Given the description of an element on the screen output the (x, y) to click on. 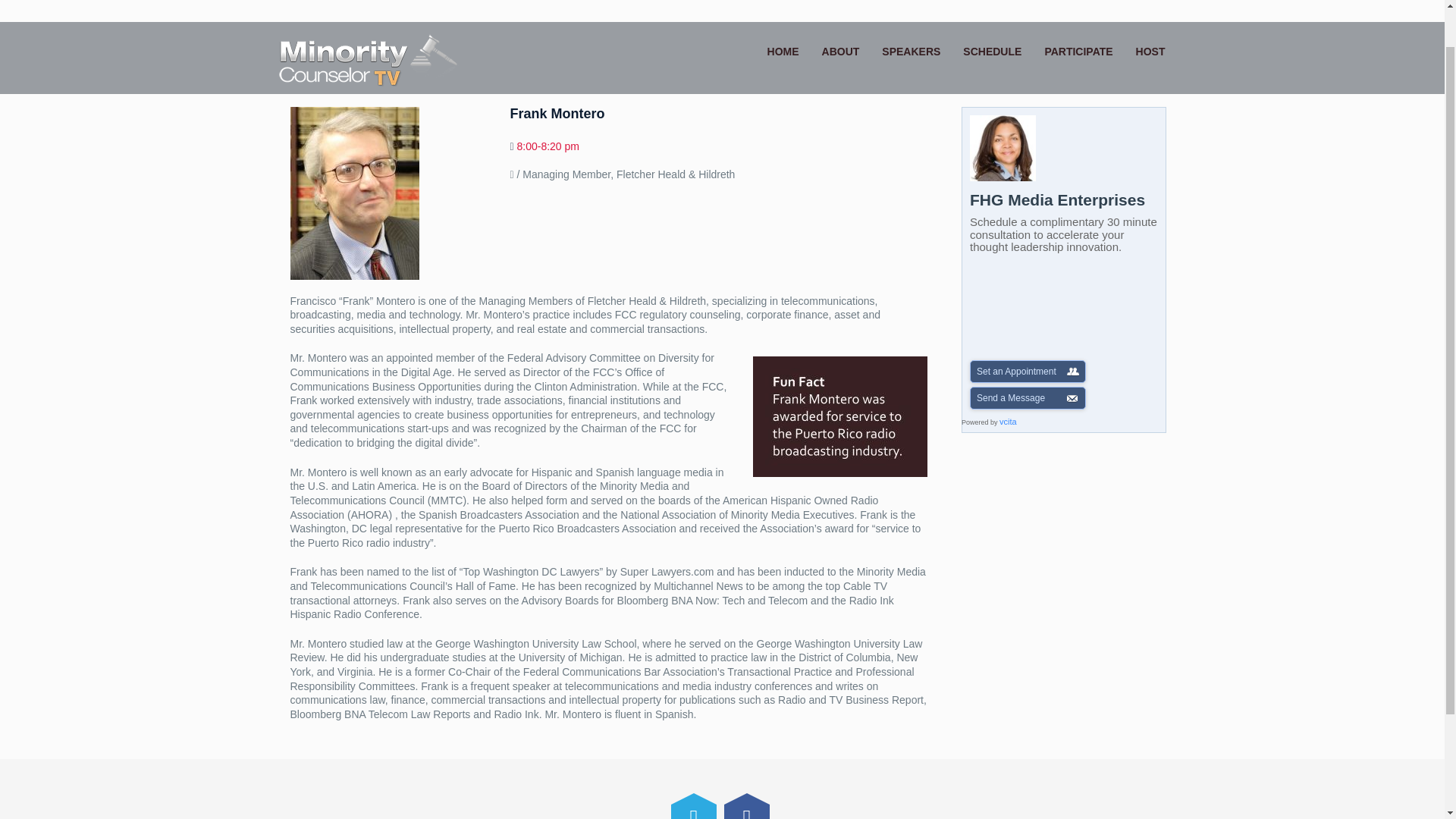
LITE Talks (369, 20)
SPEAKERS (911, 11)
HOME (782, 11)
PARTICIPATE (1078, 11)
SCHEDULE (992, 11)
HOST (1150, 11)
ABOUT (840, 11)
